Given the description of an element on the screen output the (x, y) to click on. 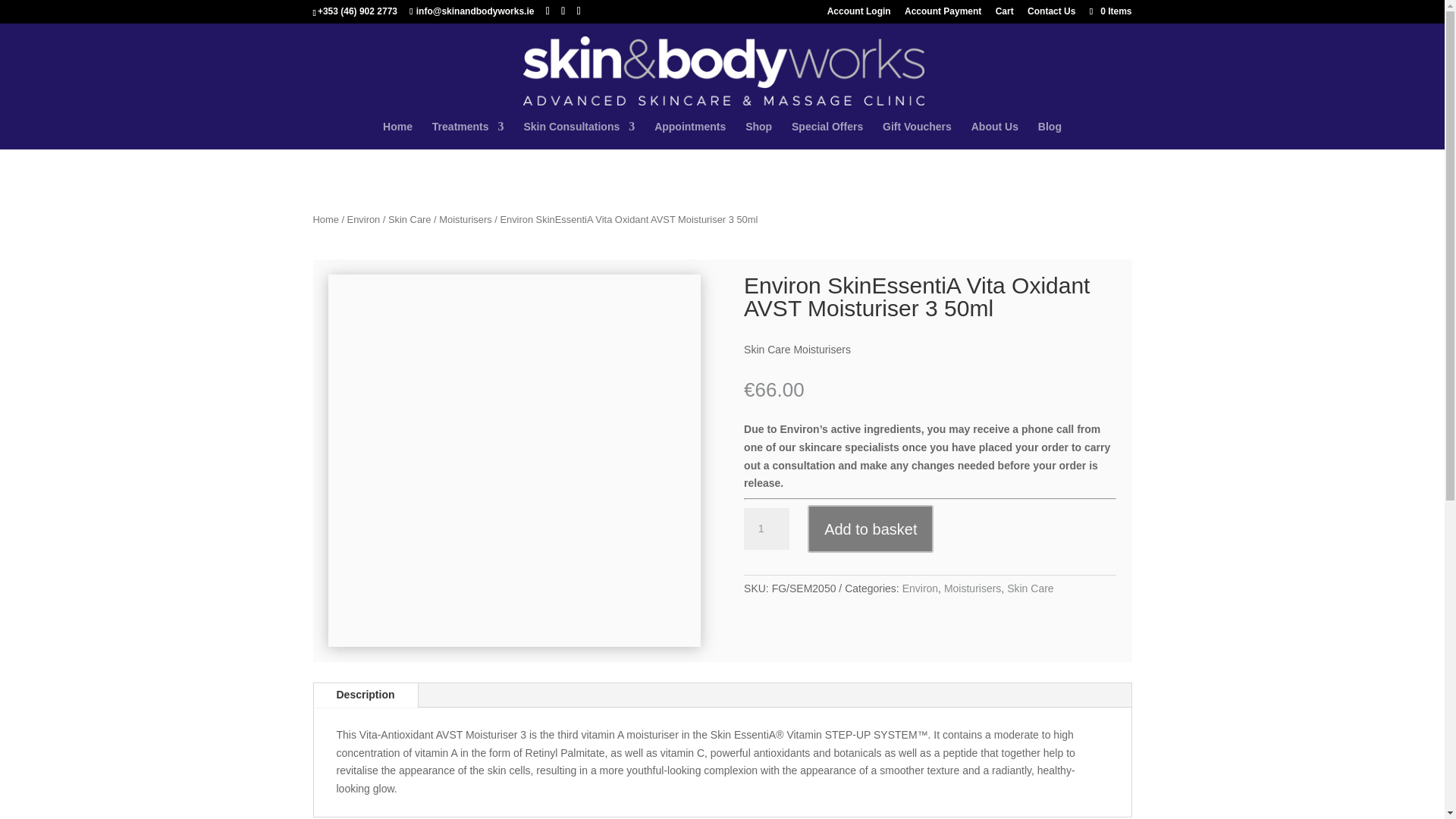
Home (397, 135)
0 Items (1108, 10)
Account Login (859, 14)
Contact Us (1051, 14)
Cart (1004, 14)
Account Payment (942, 14)
Treatments (467, 135)
1 (766, 528)
